Given the description of an element on the screen output the (x, y) to click on. 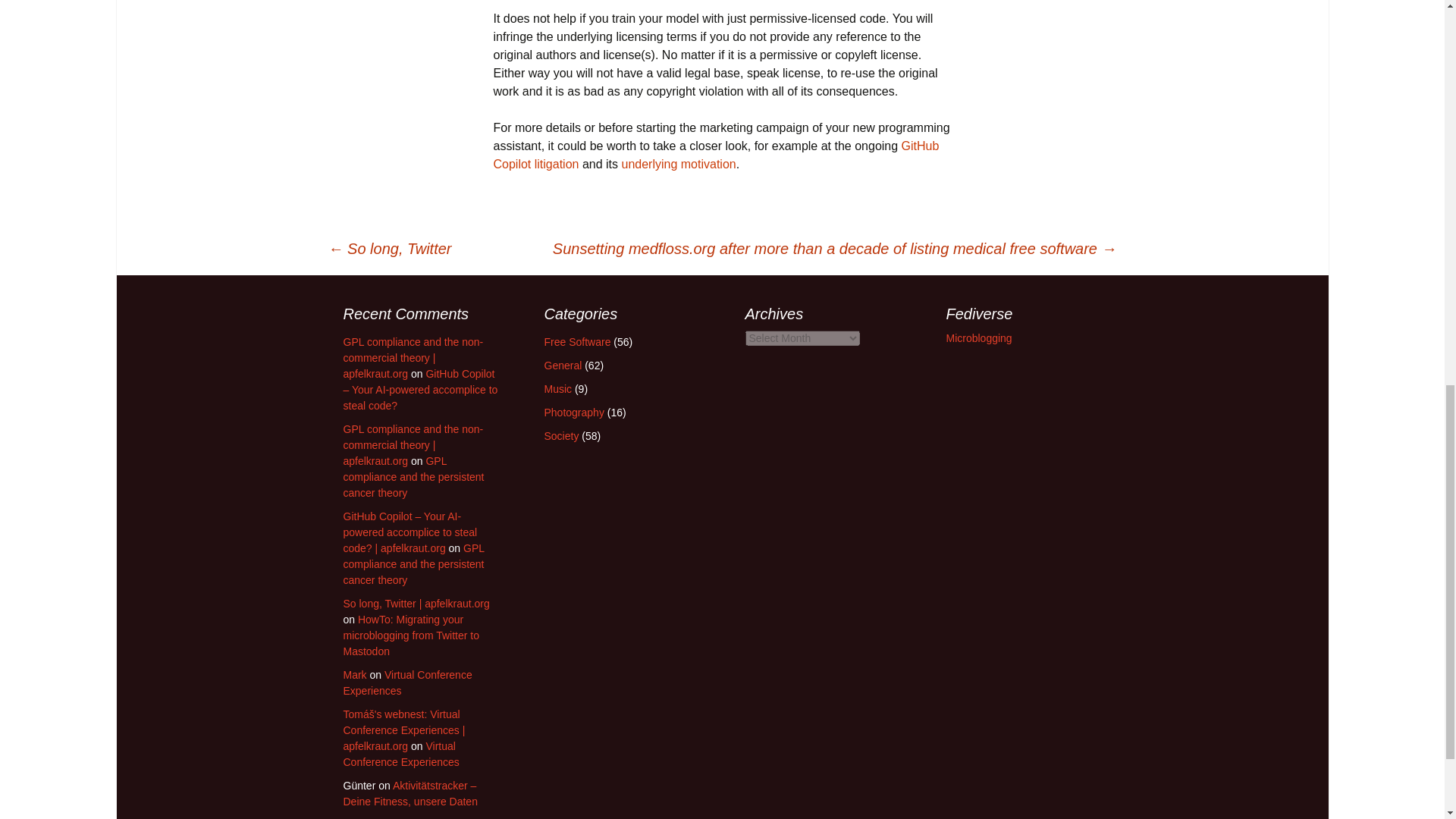
HowTo: Migrating your microblogging from Twitter to Mastodon (410, 635)
GitHub Copilot litigation (716, 154)
underlying motivation (678, 164)
GPL compliance and the persistent cancer theory (412, 476)
Mark (354, 674)
GPL compliance and the persistent cancer theory (412, 564)
